Given the description of an element on the screen output the (x, y) to click on. 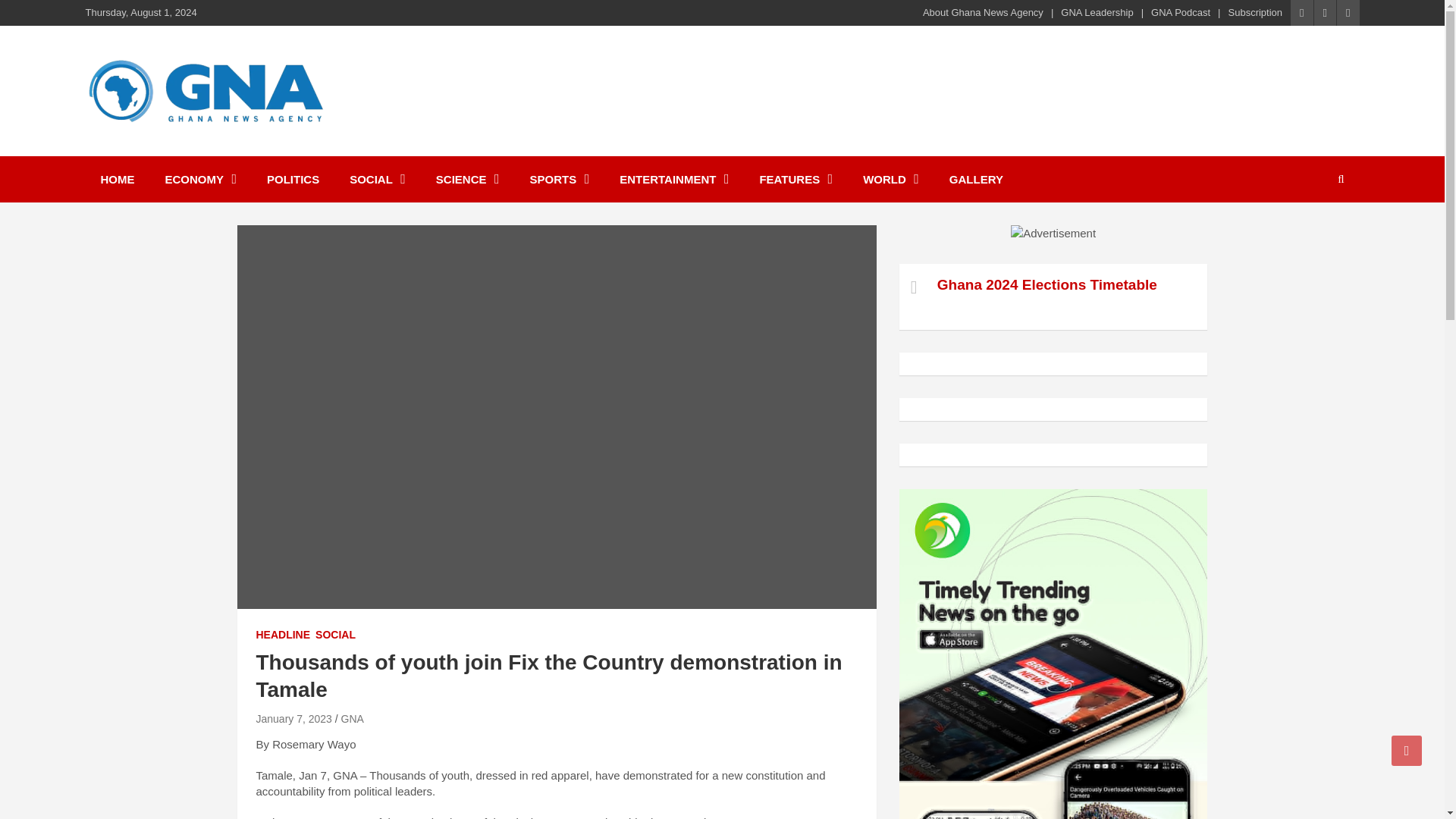
HOME (116, 179)
POLITICS (292, 179)
SOCIAL (377, 179)
GNA Leadership (1096, 12)
SPORTS (560, 179)
FEATURES (795, 179)
ECONOMY (200, 179)
ENTERTAINMENT (674, 179)
HEADLINE (283, 635)
